Given the description of an element on the screen output the (x, y) to click on. 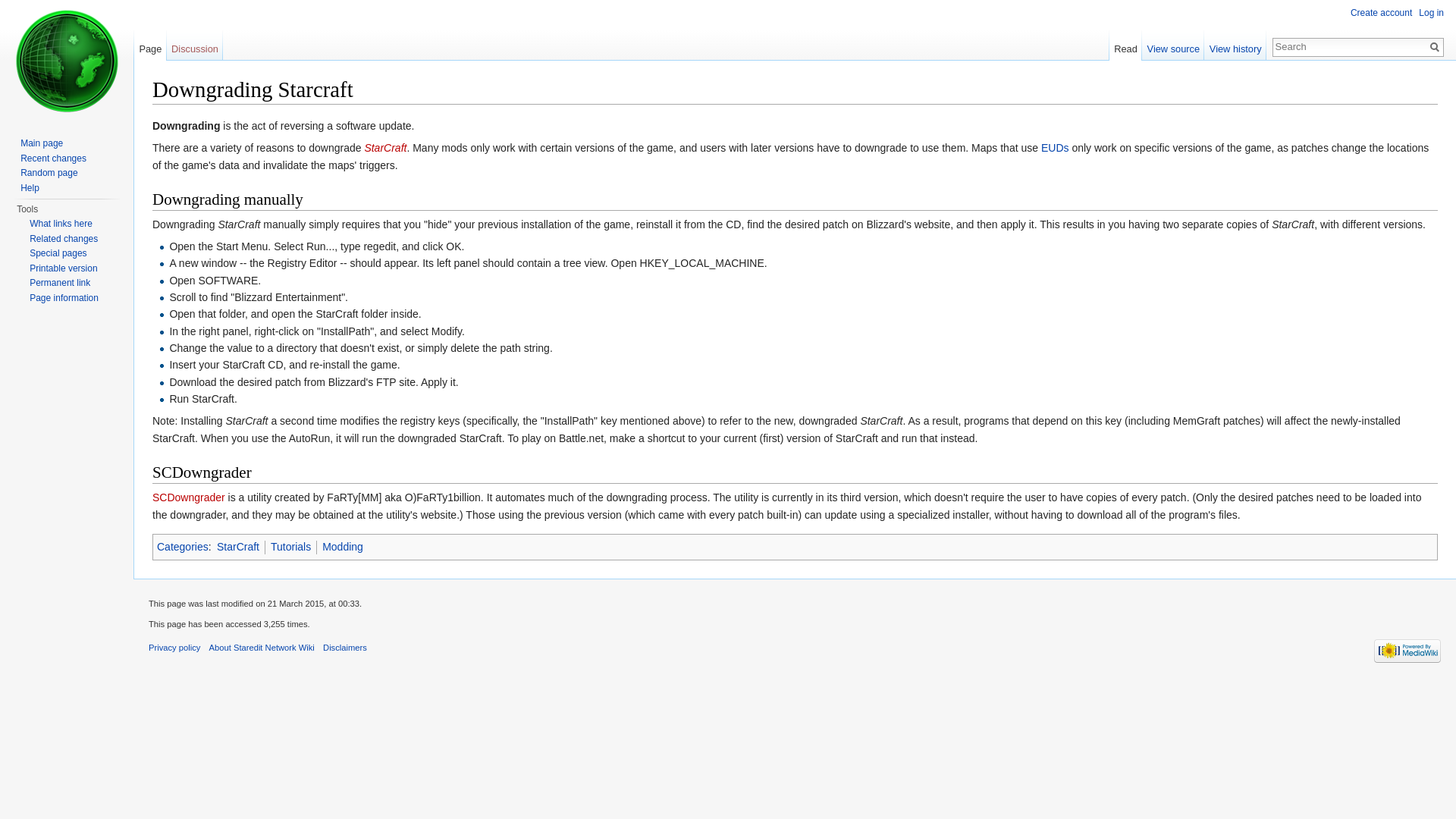
Help (29, 186)
Go (1434, 46)
What links here (61, 223)
Page information (64, 297)
Visit the main page (66, 60)
Modding (341, 546)
Discussion (195, 45)
Go (1434, 46)
Related changes (63, 238)
StarCraft (237, 546)
